Given the description of an element on the screen output the (x, y) to click on. 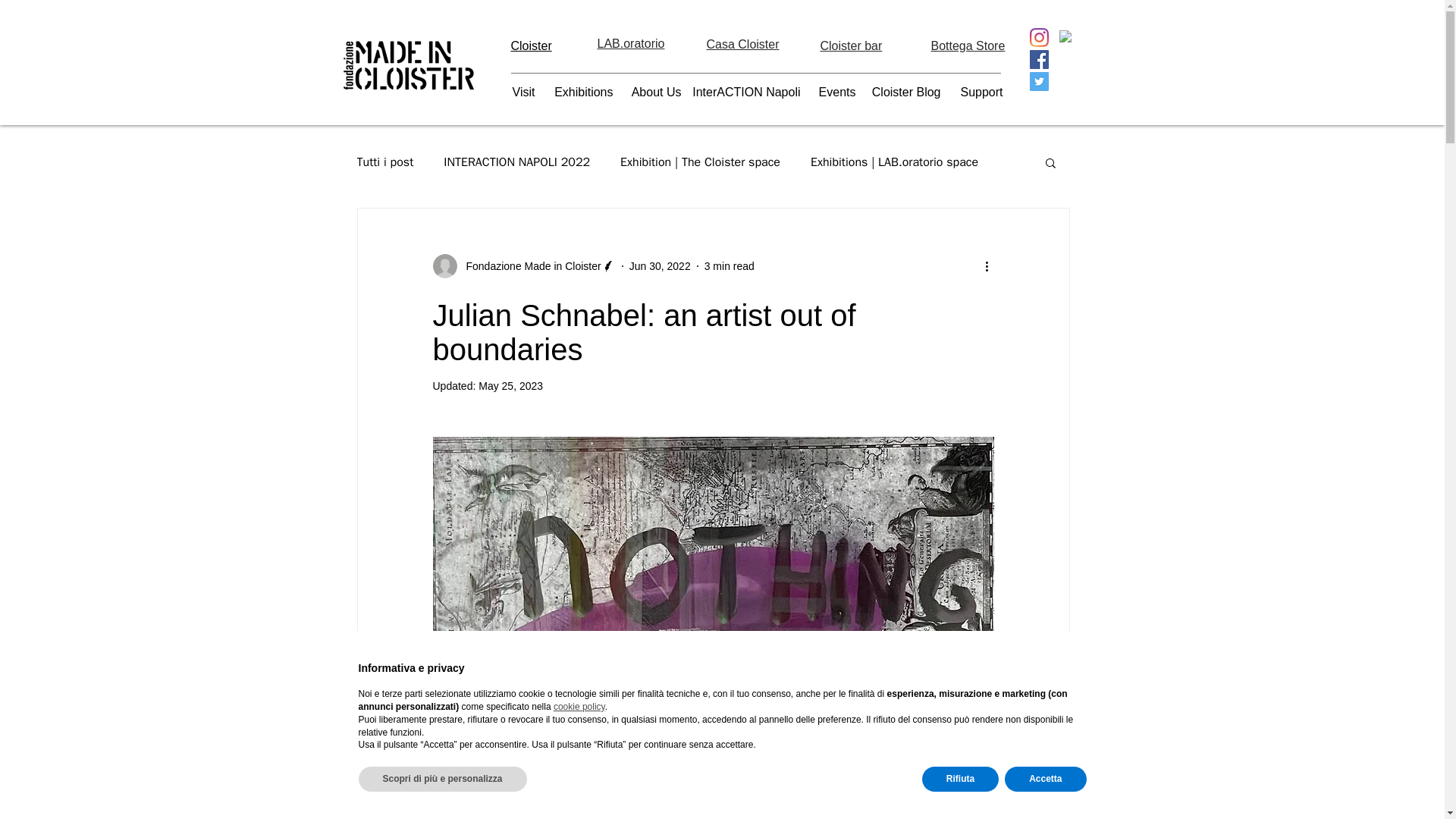
INTERACTION NAPOLI 2022 (516, 162)
InterACTION Napoli (745, 92)
Tutti i post (384, 162)
Exhibitions (576, 92)
3 min read (729, 265)
Cloister (531, 45)
Fondazione Made in Cloister (528, 266)
Cloister bar (851, 45)
Jun 30, 2022 (659, 265)
Fondazione Made in Cloister (523, 265)
